Given the description of an element on the screen output the (x, y) to click on. 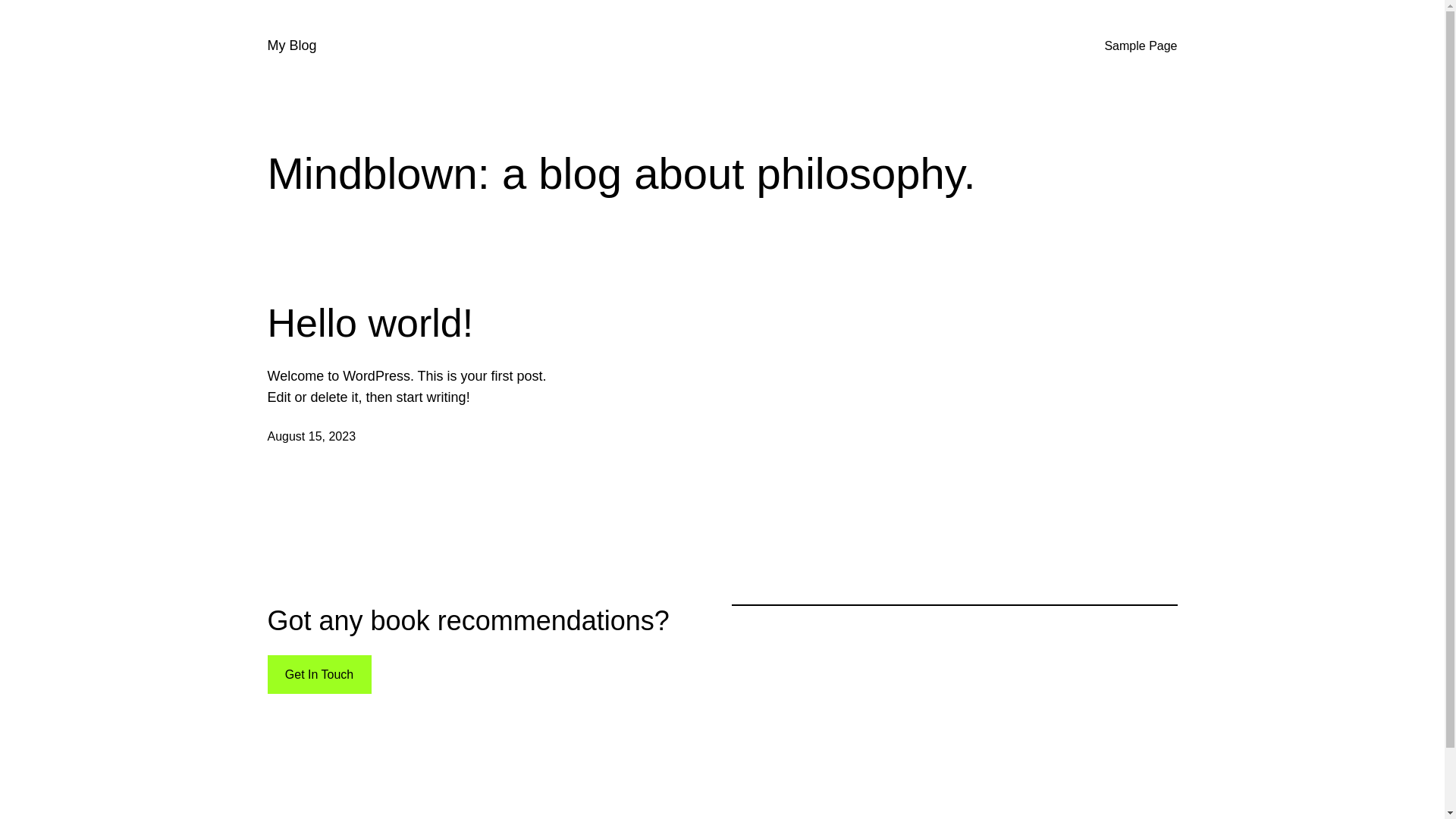
August 15, 2023 Element type: text (310, 435)
Sample Page Element type: text (1140, 46)
Hello world! Element type: text (369, 322)
My Blog Element type: text (291, 45)
Get In Touch Element type: text (318, 674)
